Given the description of an element on the screen output the (x, y) to click on. 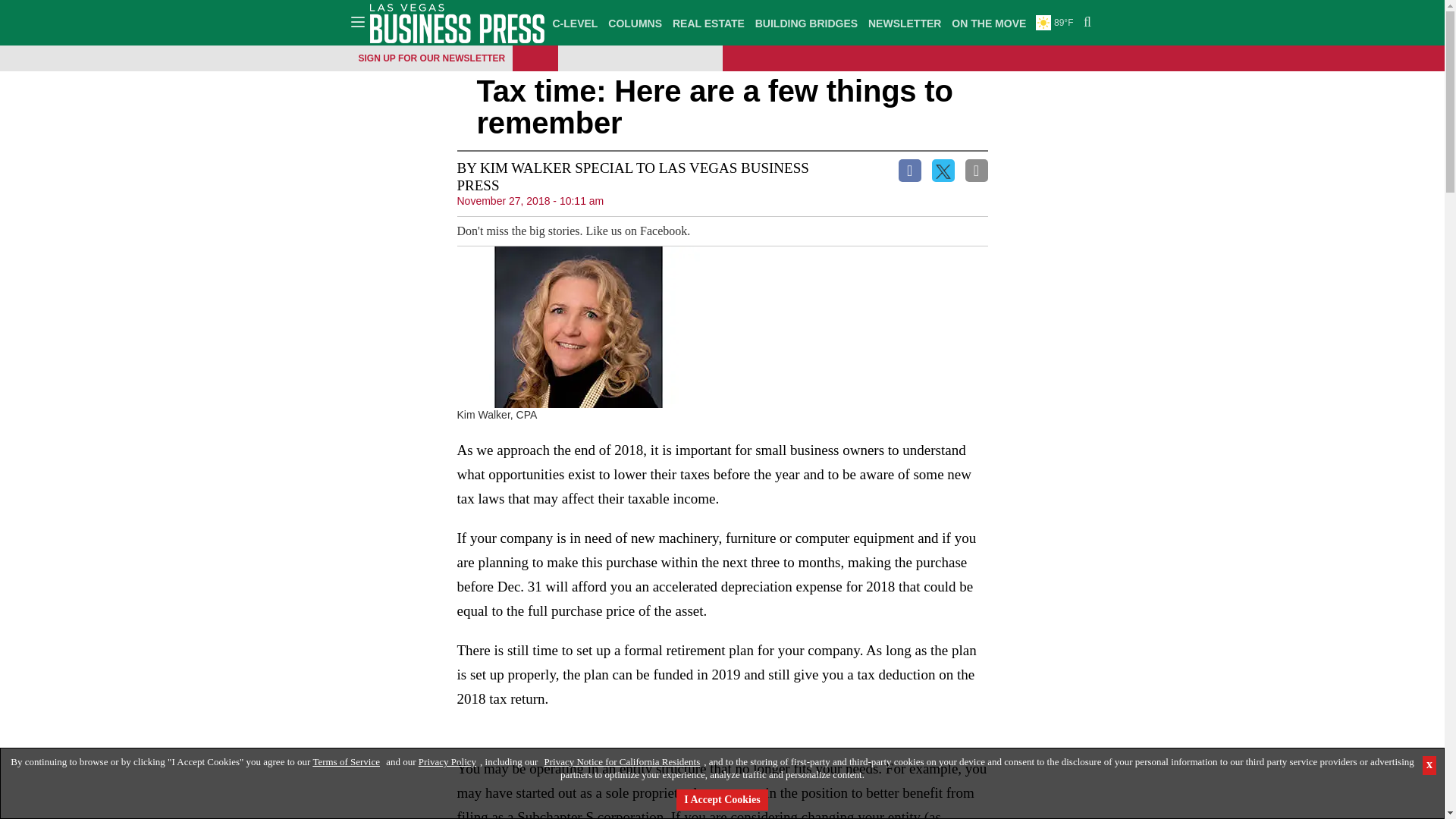
NEWSLETTER (904, 22)
Search (1085, 22)
COLUMNS (634, 22)
C-LEVEL (575, 22)
ON THE MOVE (988, 22)
BUILDING BRIDGES (806, 22)
REAL ESTATE (708, 22)
